Given the description of an element on the screen output the (x, y) to click on. 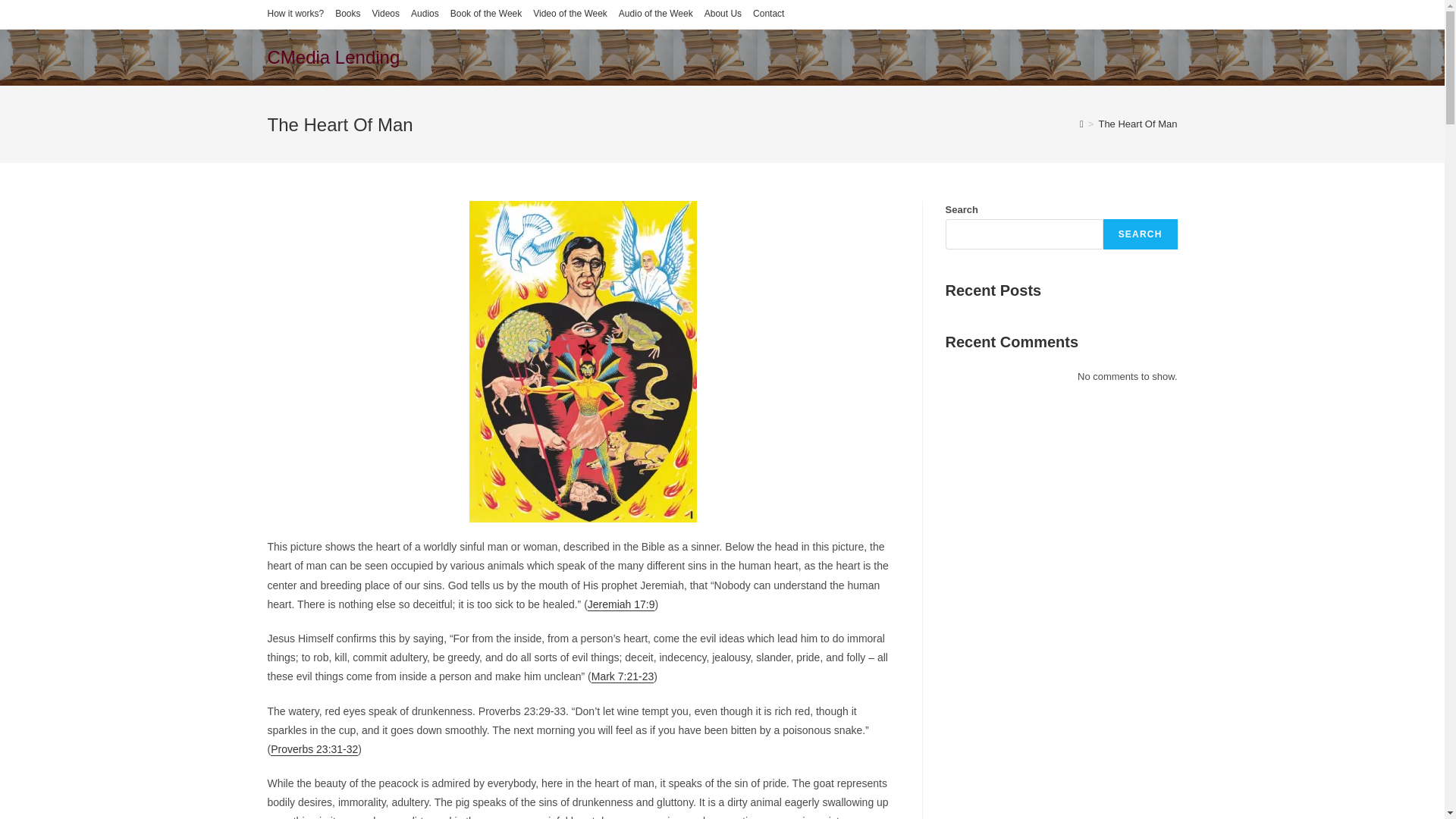
Audio of the Week (655, 13)
Audios (424, 13)
How it works? (294, 13)
Book of the Week (485, 13)
Video of the Week (569, 13)
SEARCH (1140, 234)
Jeremiah 17:9 (621, 604)
The Heart Of Man (1136, 123)
Videos (385, 13)
Contact (768, 13)
